Given the description of an element on the screen output the (x, y) to click on. 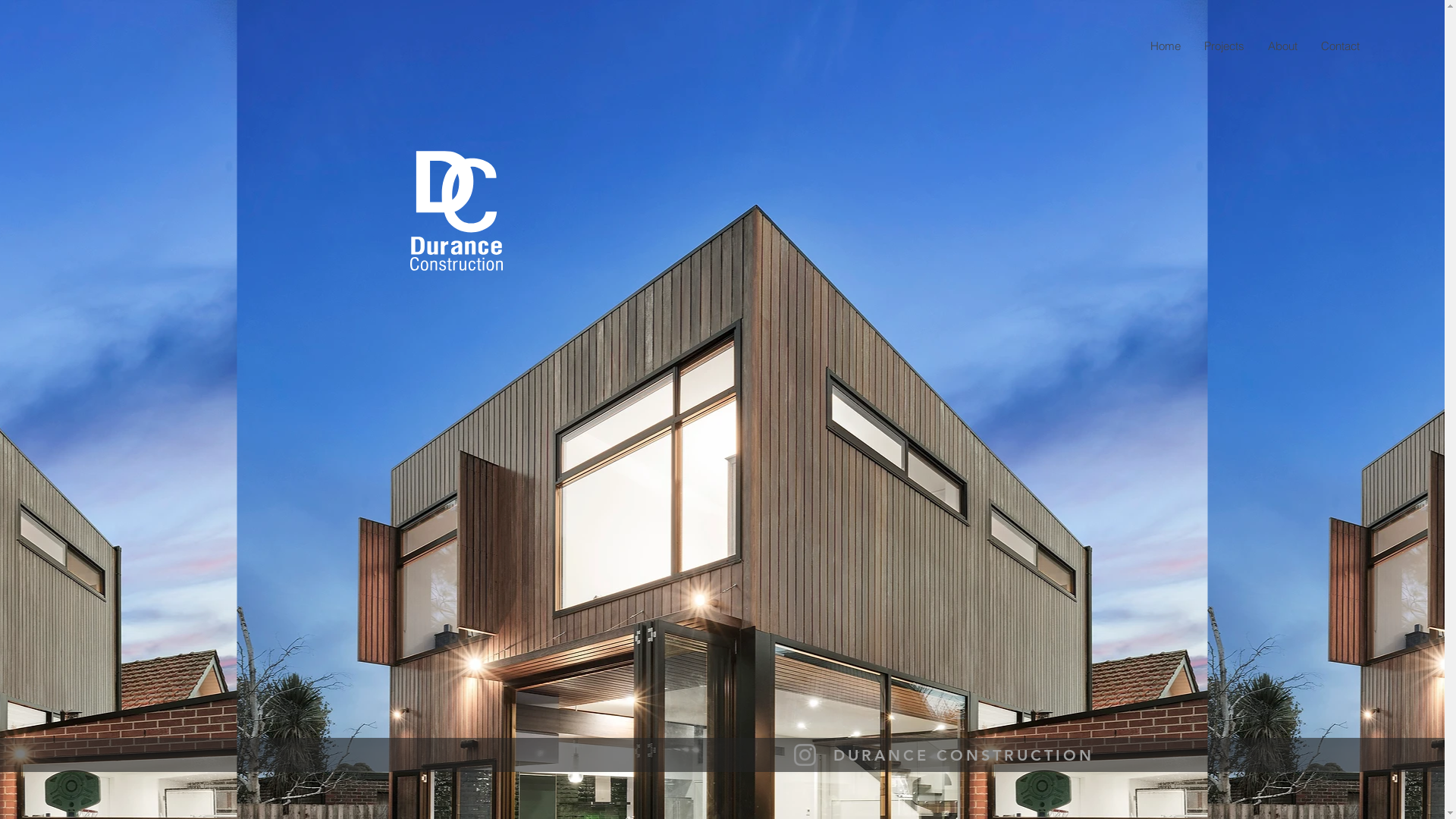
TWIPLA (Visitor Analytics) Element type: hover (1226, 612)
About Element type: text (1281, 45)
Home Element type: text (1165, 45)
Projects Element type: text (1223, 45)
Contact Element type: text (1339, 45)
